Given the description of an element on the screen output the (x, y) to click on. 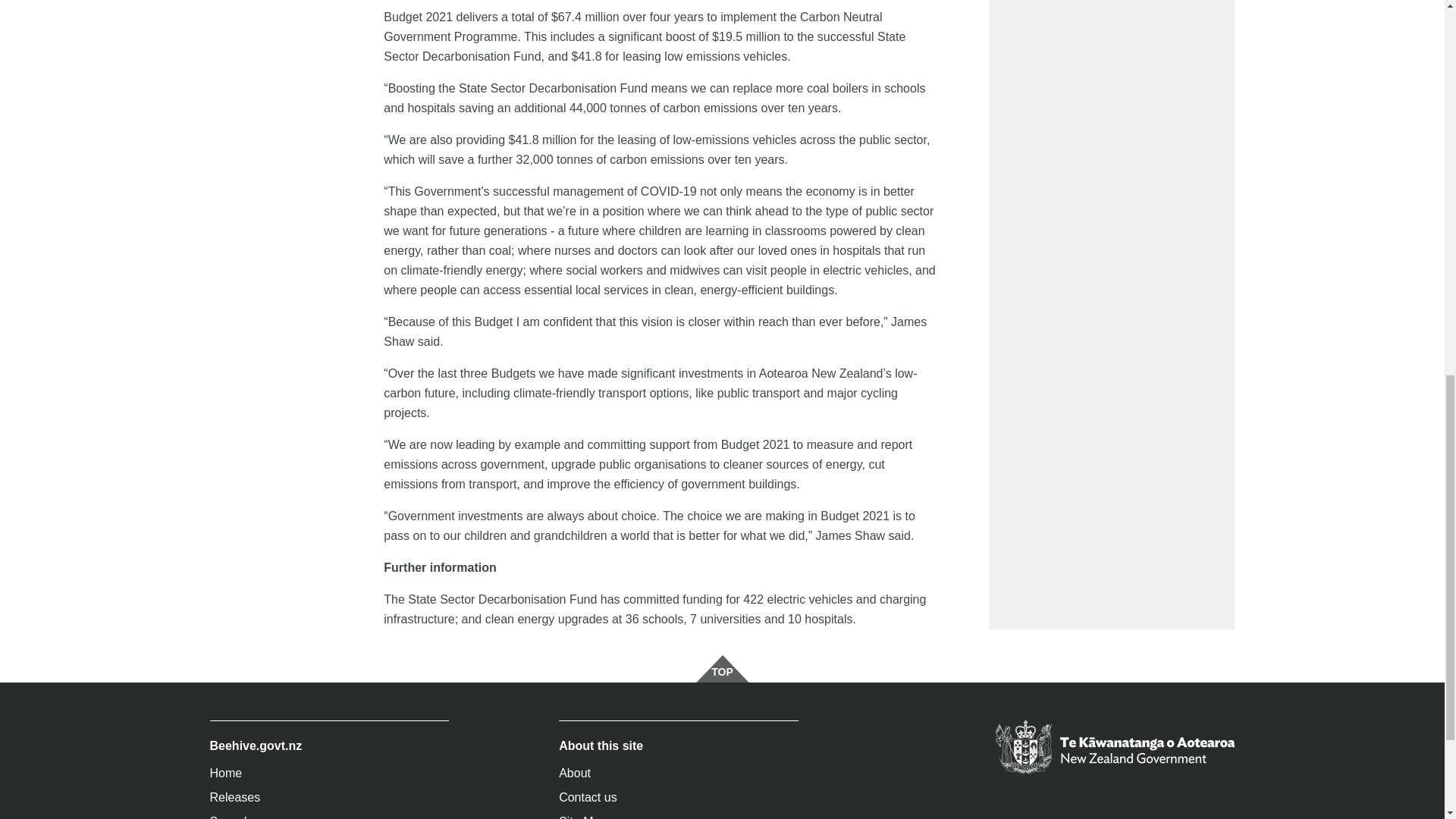
Releases (328, 797)
Site Map (678, 814)
Speeches (328, 814)
Home (328, 773)
Back to top of page (722, 668)
TOP (722, 668)
About (678, 773)
Contact us (678, 797)
